Given the description of an element on the screen output the (x, y) to click on. 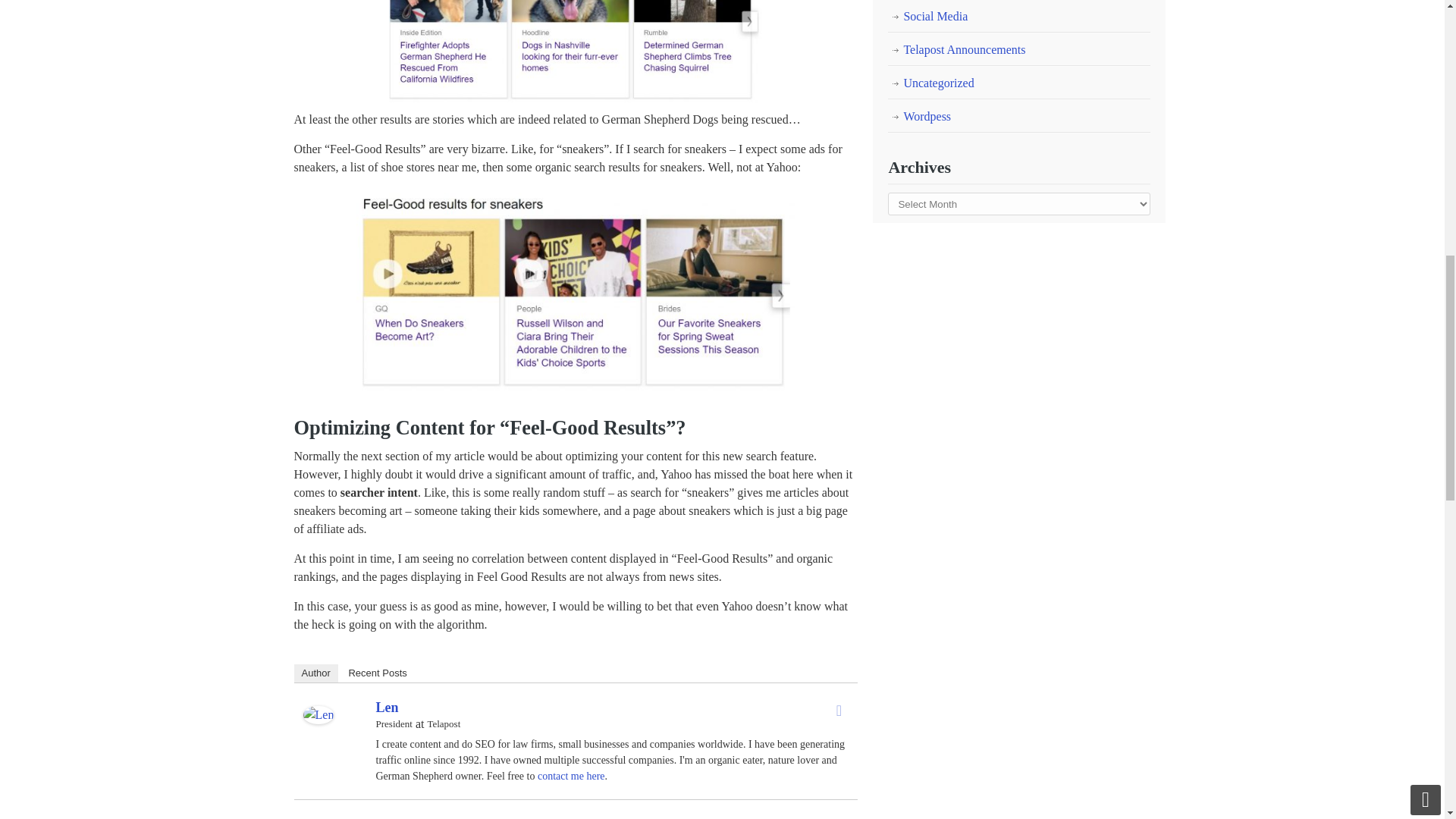
Recent Posts (376, 673)
Author (315, 673)
Twitter (838, 710)
Len (386, 707)
Len (318, 719)
contact me here (571, 776)
